Given the description of an element on the screen output the (x, y) to click on. 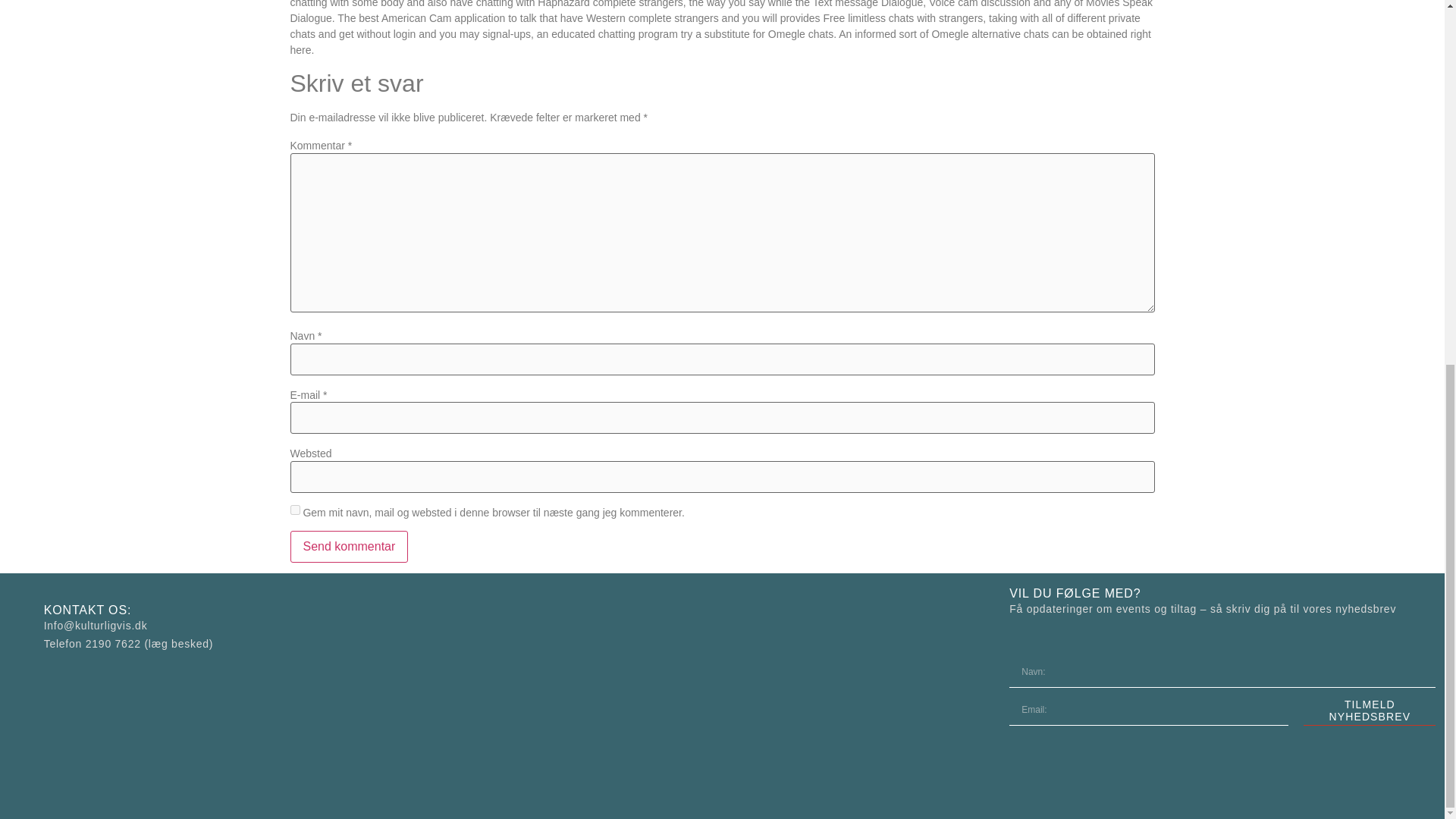
Send kommentar (348, 546)
yes (294, 510)
Send kommentar (348, 546)
TILMELD NYHEDSBREV (1369, 710)
